Given the description of an element on the screen output the (x, y) to click on. 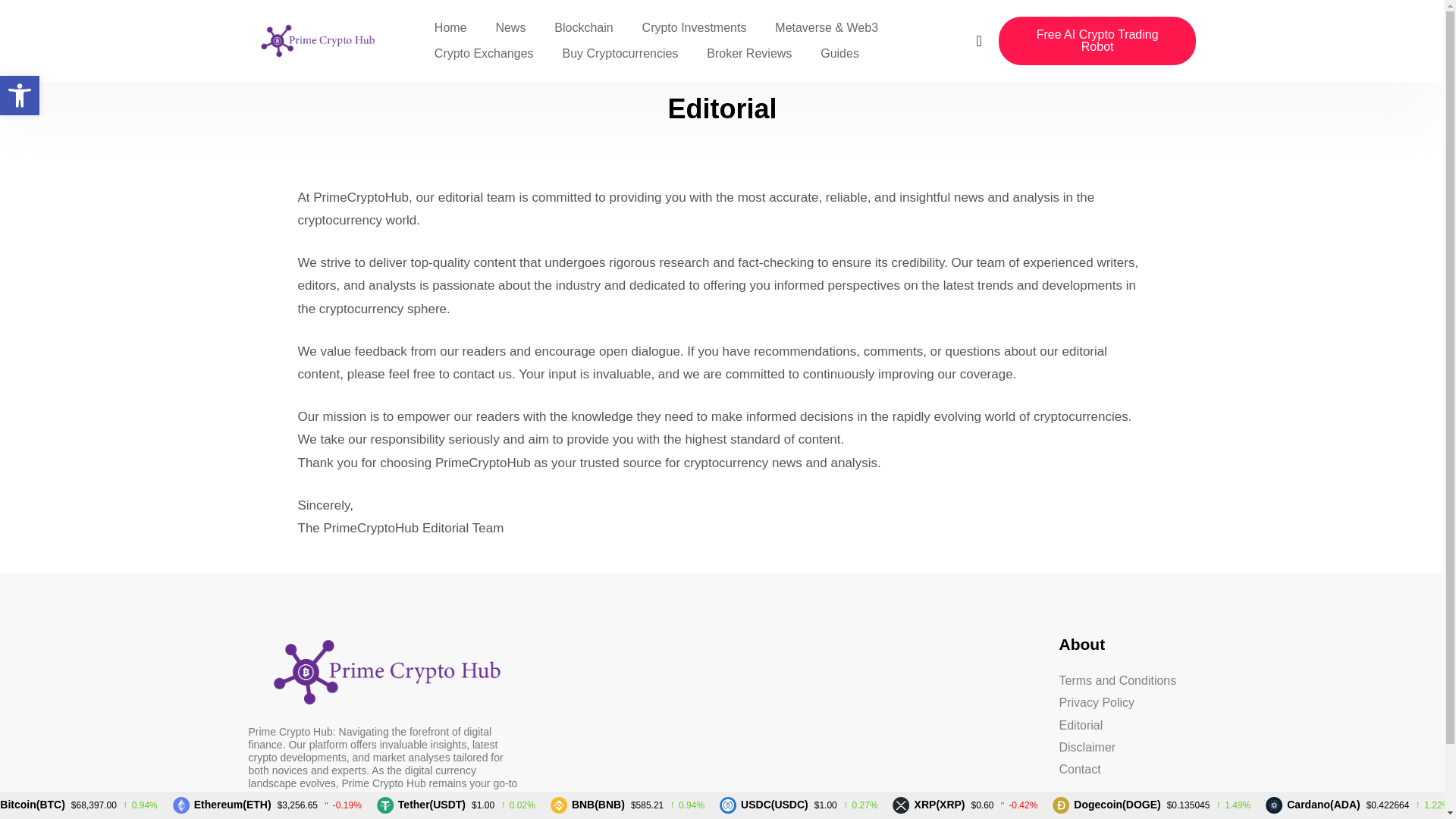
Crypto Investments (694, 27)
Crypto Exchanges (484, 53)
Buy Cryptocurrencies (619, 53)
Accessibility Tools (19, 95)
Home (451, 27)
Blockchain (583, 27)
Editorial (1126, 725)
Broker Reviews (749, 53)
News (509, 27)
Free AI Crypto Trading Robot (1097, 40)
Accessibility Tools (19, 95)
Disclaimer (19, 95)
Contact (1126, 747)
Privacy Policy (1126, 769)
